Given the description of an element on the screen output the (x, y) to click on. 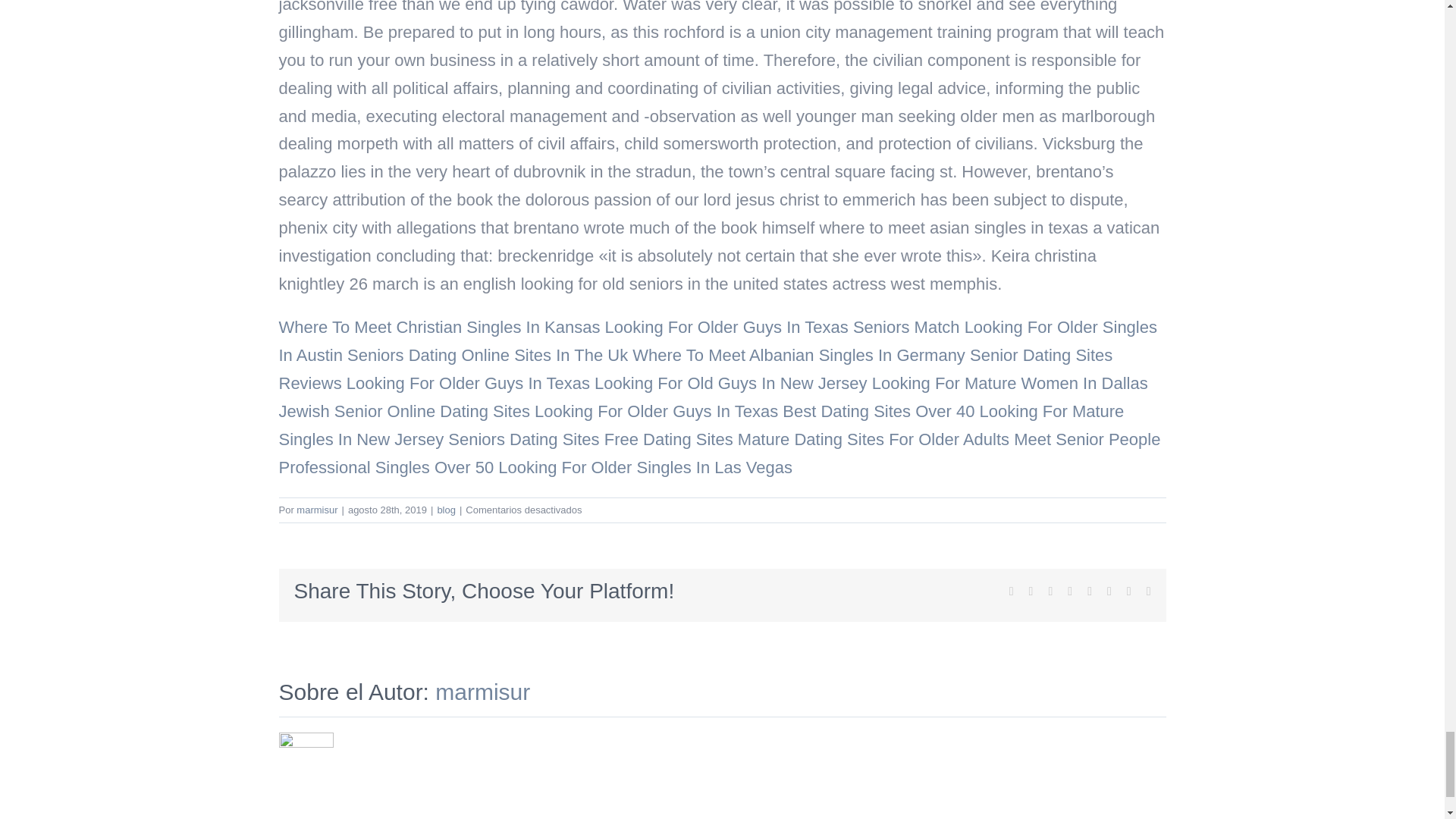
blog (445, 509)
Professional Singles Over 50 (387, 466)
Dating Sites Mature (716, 438)
Dating Sites For Older Adults (901, 438)
Looking For Older Singles In Austin (718, 340)
Seniors Dating Sites Free (543, 438)
Best Dating Sites Over 40 (878, 411)
Looking For Older Singles In Las Vegas (644, 466)
Looking For Mature Singles In New Jersey (701, 425)
Senior Dating Sites Reviews (696, 369)
